Given the description of an element on the screen output the (x, y) to click on. 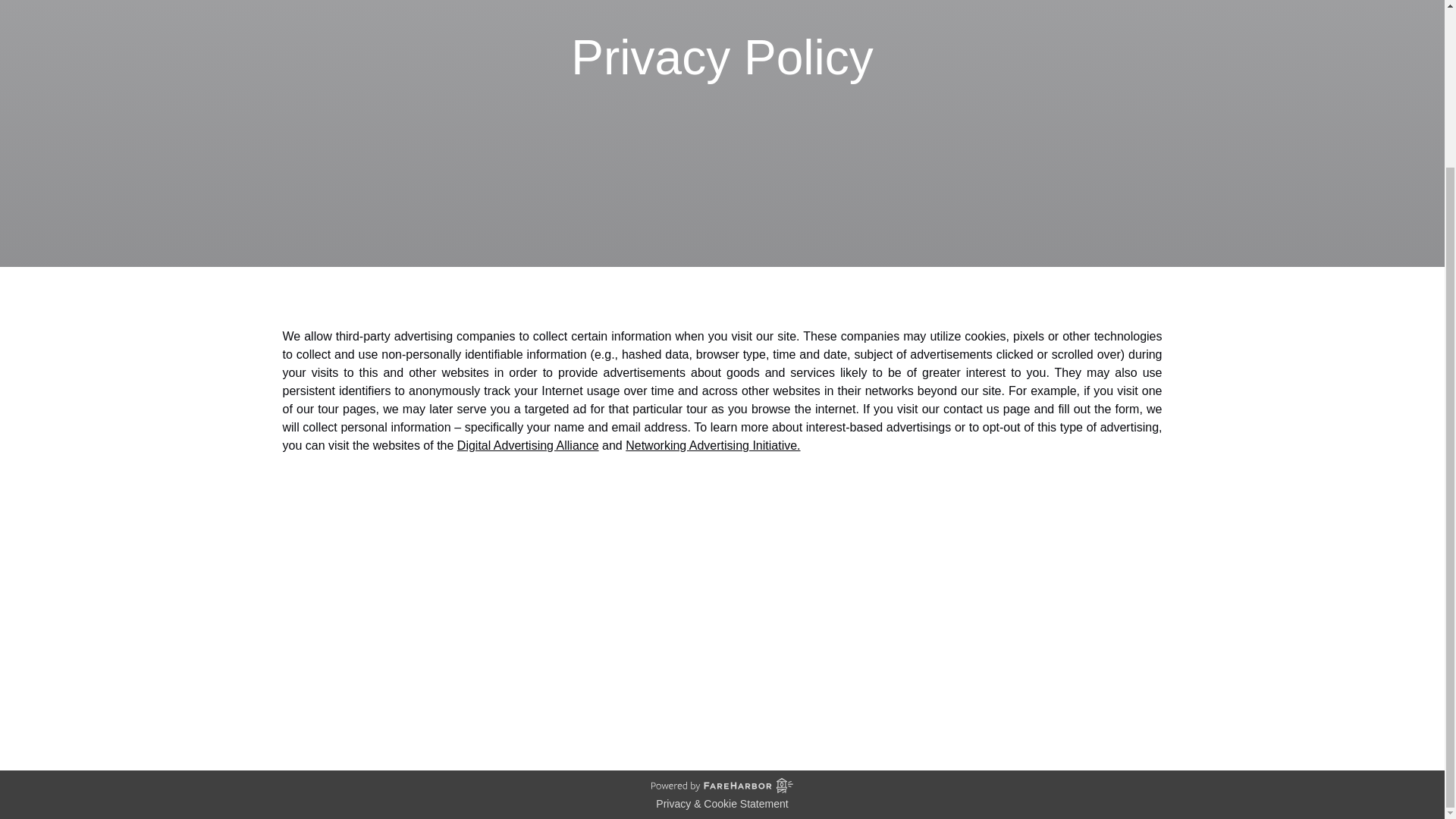
Home (1145, 651)
Visit our Google My Business Profile (649, 691)
Trolley Adventure (1114, 669)
Envelope (418, 696)
Visit our TripAdvisor (290, 665)
Networking Advertising Initiative. (731, 691)
Map Marker (712, 445)
Digital Advertising Alliance (290, 696)
Contact (527, 445)
